Given the description of an element on the screen output the (x, y) to click on. 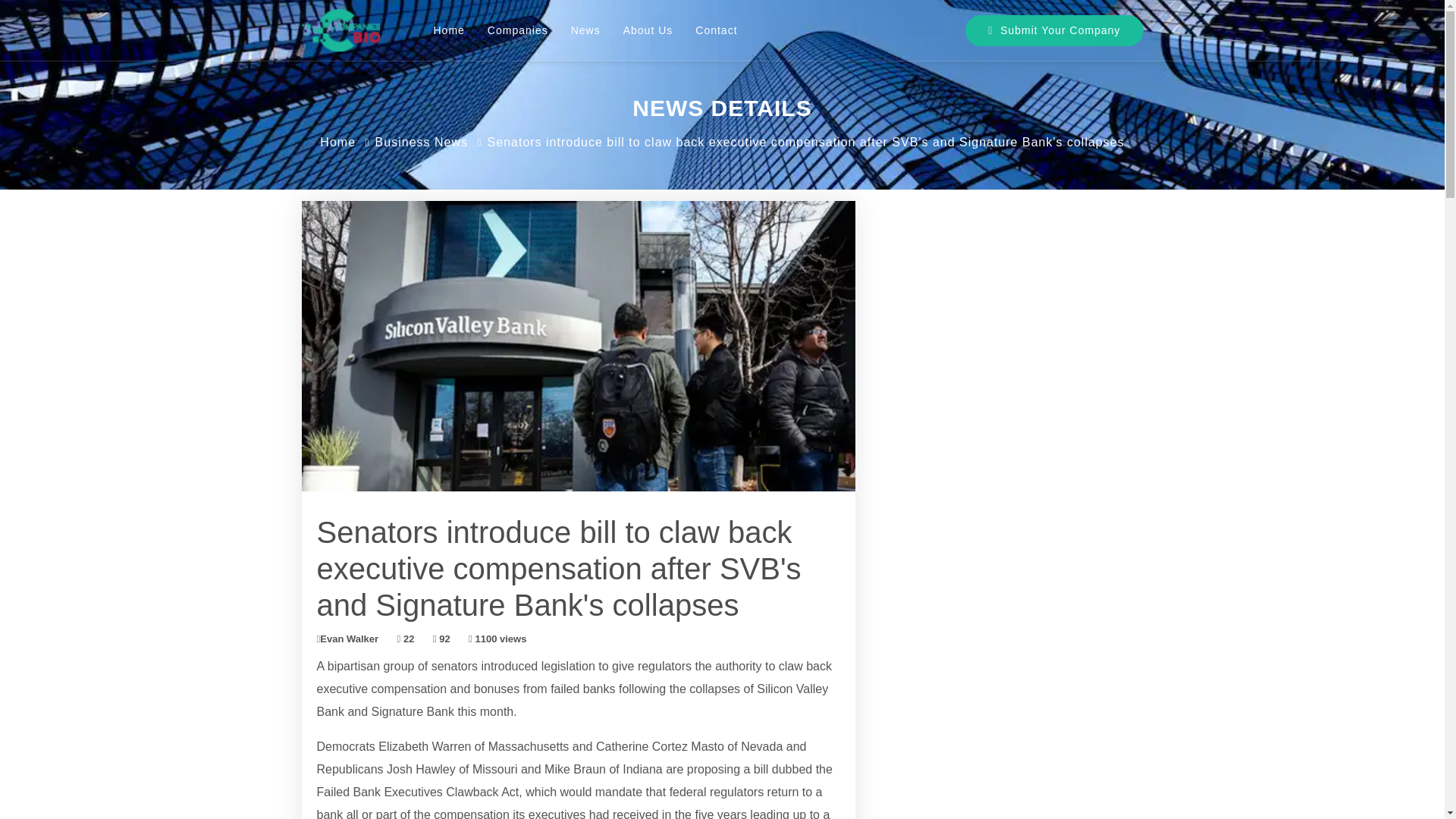
Home (337, 141)
About Us (647, 30)
Business News (421, 141)
CompaniesBIO.Com (340, 30)
Contact (716, 30)
Submit Your Company (1053, 30)
Companies (517, 30)
